Given the description of an element on the screen output the (x, y) to click on. 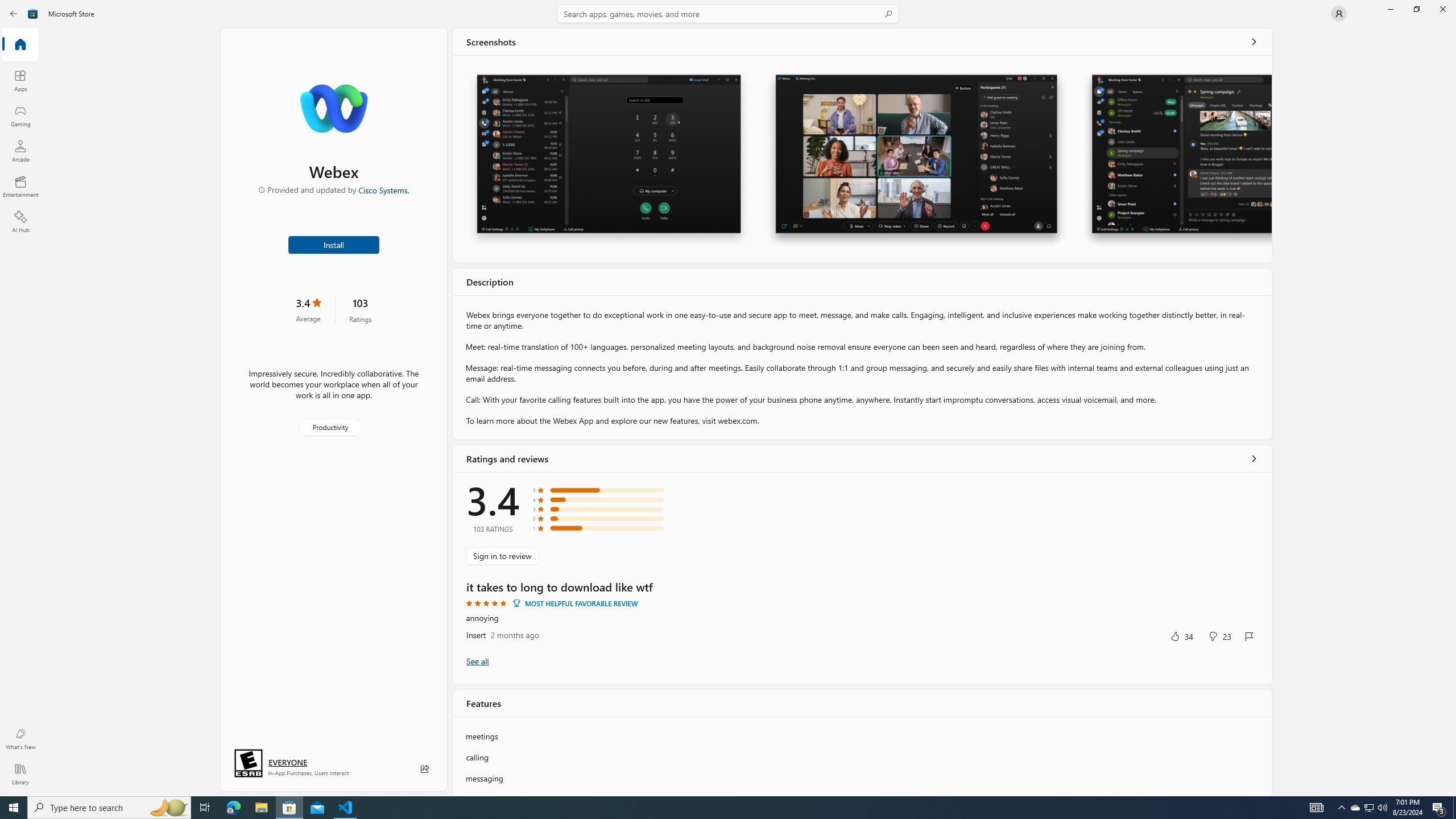
Screenshot 2 (915, 158)
Arcade (20, 150)
AI Hub (20, 221)
Report review (1248, 636)
Age rating: EVERYONE. Click for more information. (287, 762)
Entertainment (20, 185)
Screenshot 3 (1176, 158)
Close Microsoft Store (1442, 9)
3.4 stars. Click to skip to ratings and reviews (307, 309)
Show all ratings and reviews (477, 660)
Share (424, 769)
Sign in to review (501, 556)
Minimize Microsoft Store (1390, 9)
User profile (1338, 13)
